Given the description of an element on the screen output the (x, y) to click on. 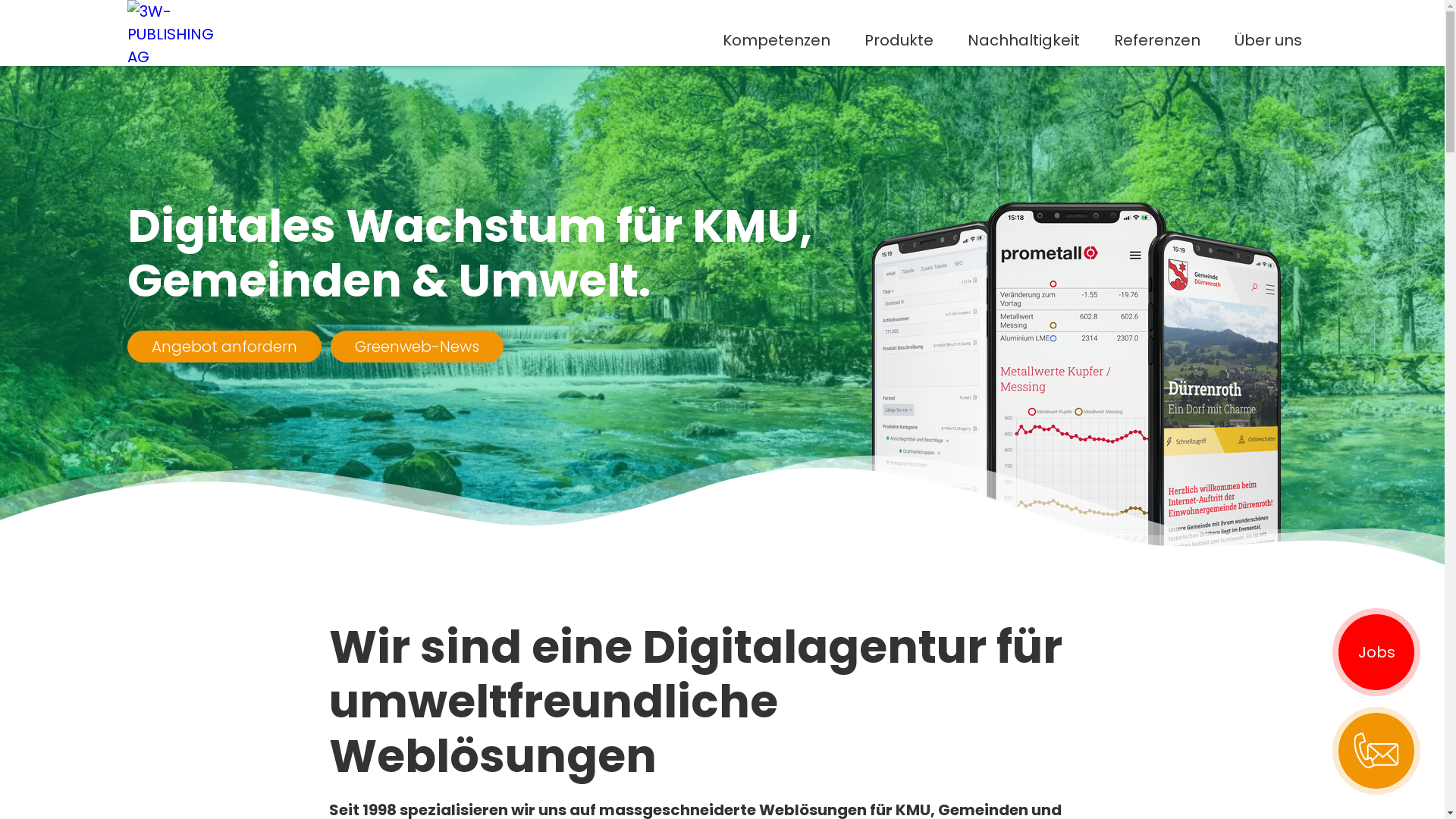
Kompetenzen Element type: text (776, 39)
Angebot anfordern Element type: text (224, 346)
Nachhaltigkeit Element type: text (1023, 39)
Referenzen Element type: text (1156, 39)
Greenweb-News Element type: text (416, 346)
Produkte Element type: text (898, 39)
